Given the description of an element on the screen output the (x, y) to click on. 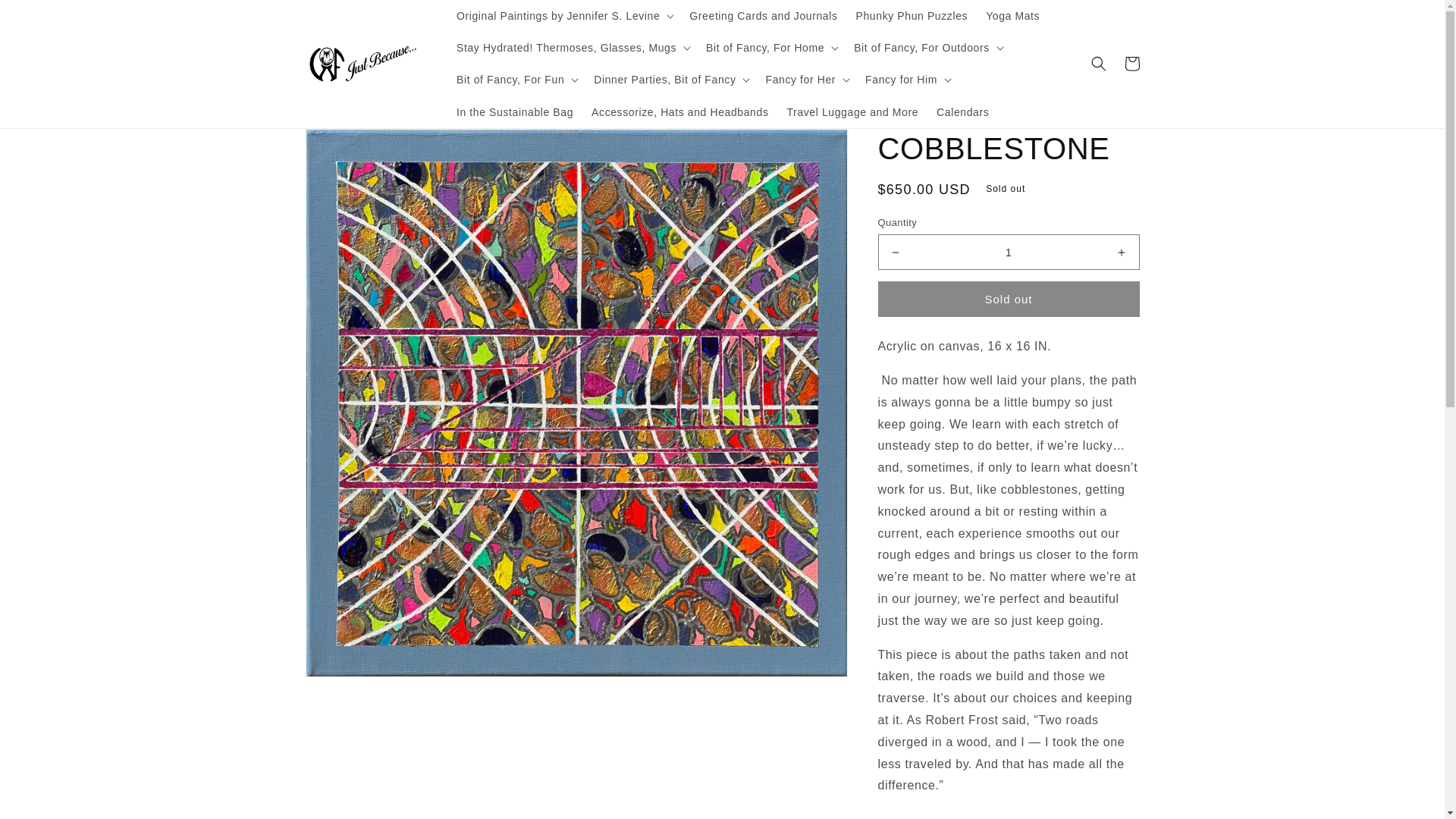
1 (1008, 252)
Skip to content (45, 17)
